Given the description of an element on the screen output the (x, y) to click on. 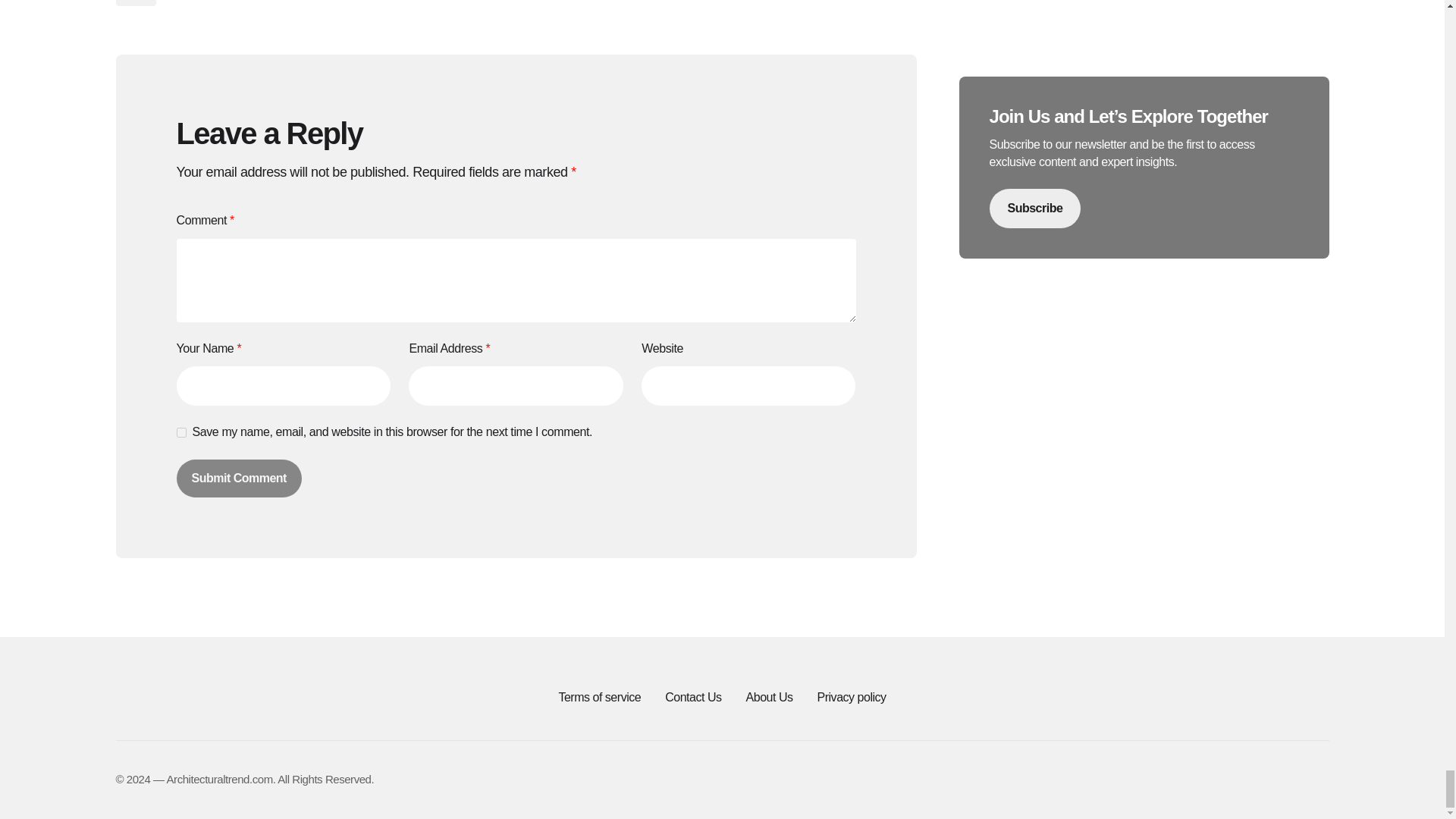
yes (181, 432)
